Given the description of an element on the screen output the (x, y) to click on. 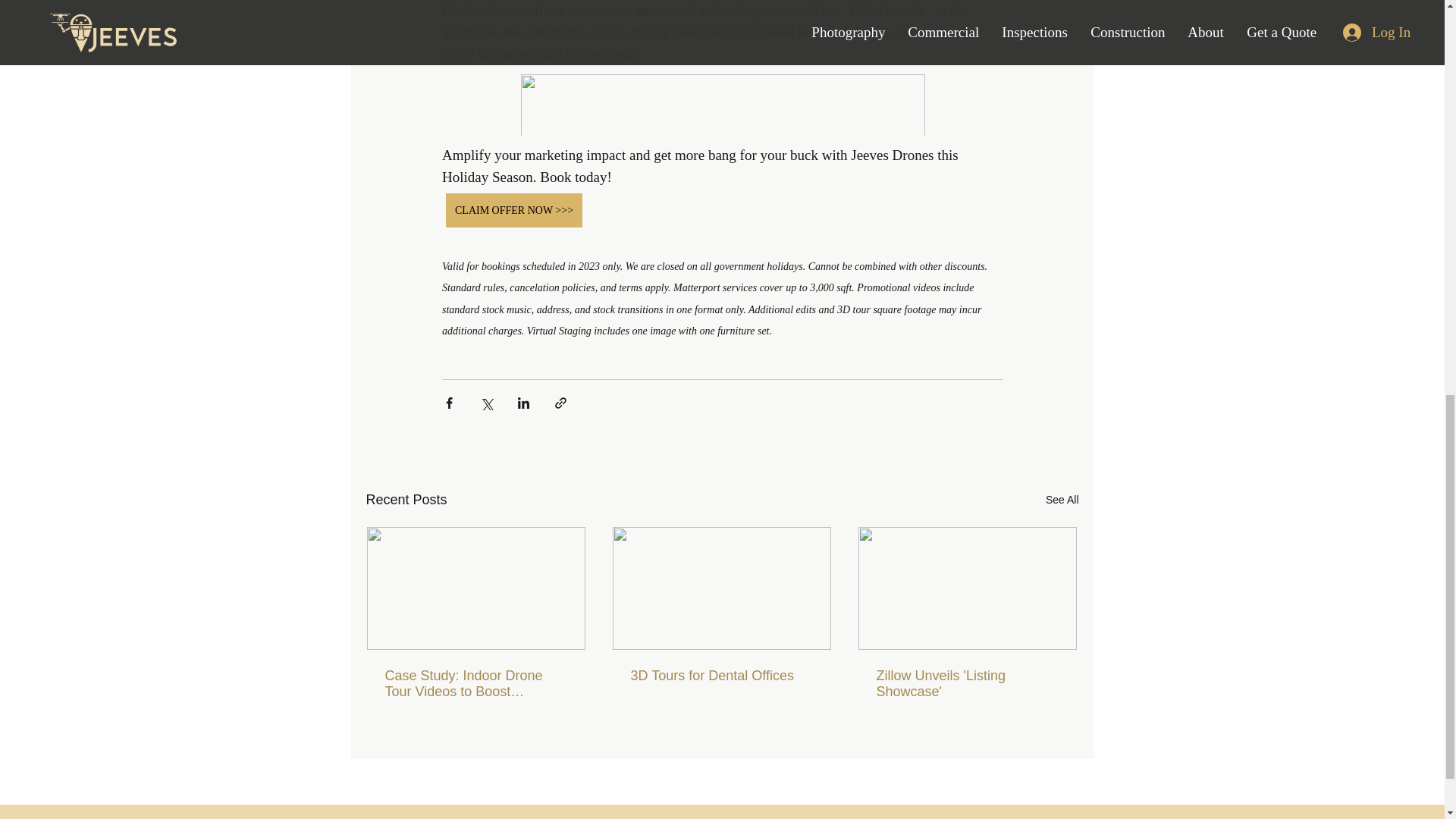
Zillow Unveils 'Listing Showcase' (967, 684)
3D Tours for Dental Offices (721, 675)
See All (1061, 499)
